Given the description of an element on the screen output the (x, y) to click on. 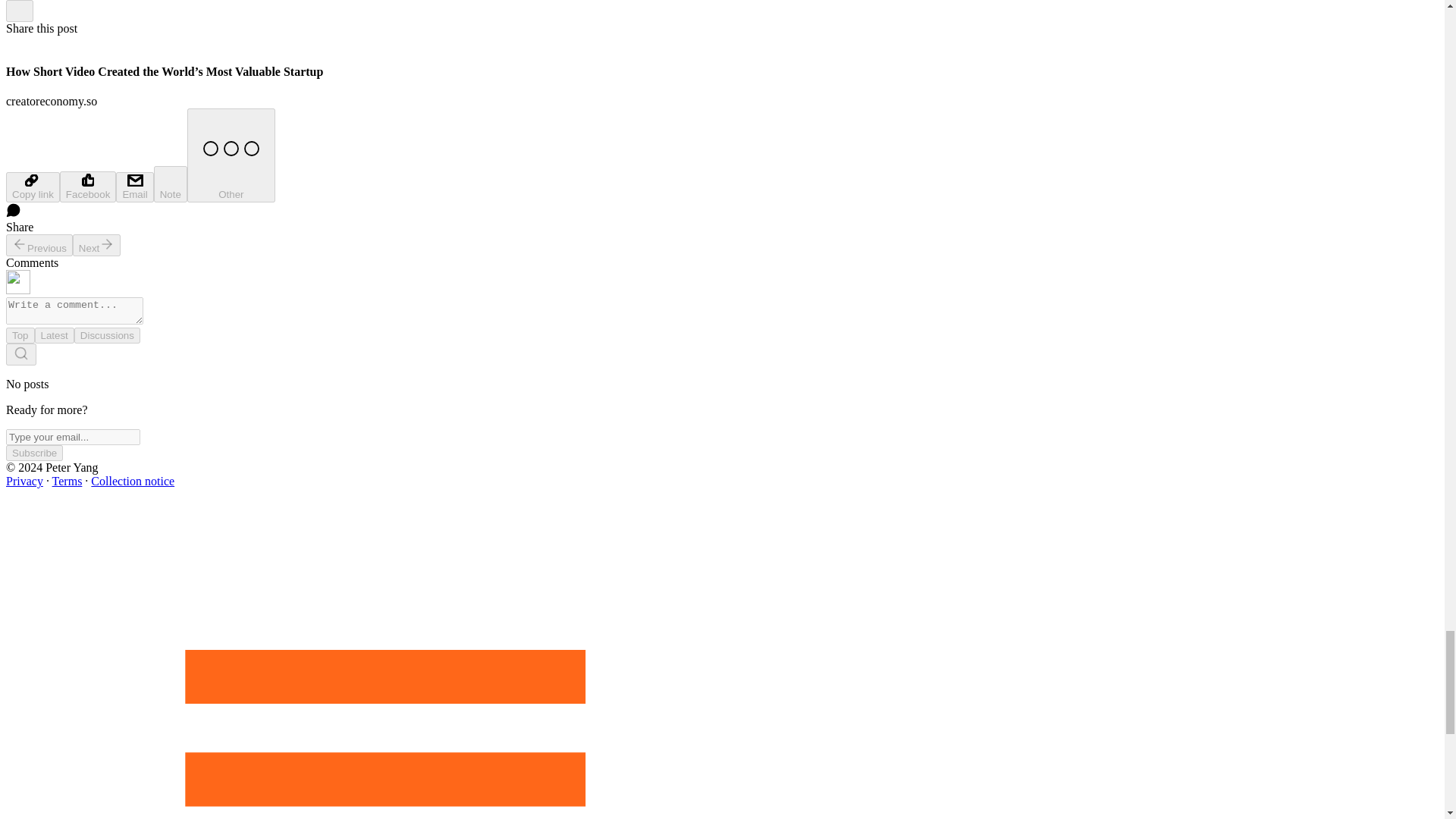
Email (134, 186)
Facebook (87, 186)
Copy link (32, 186)
